Given the description of an element on the screen output the (x, y) to click on. 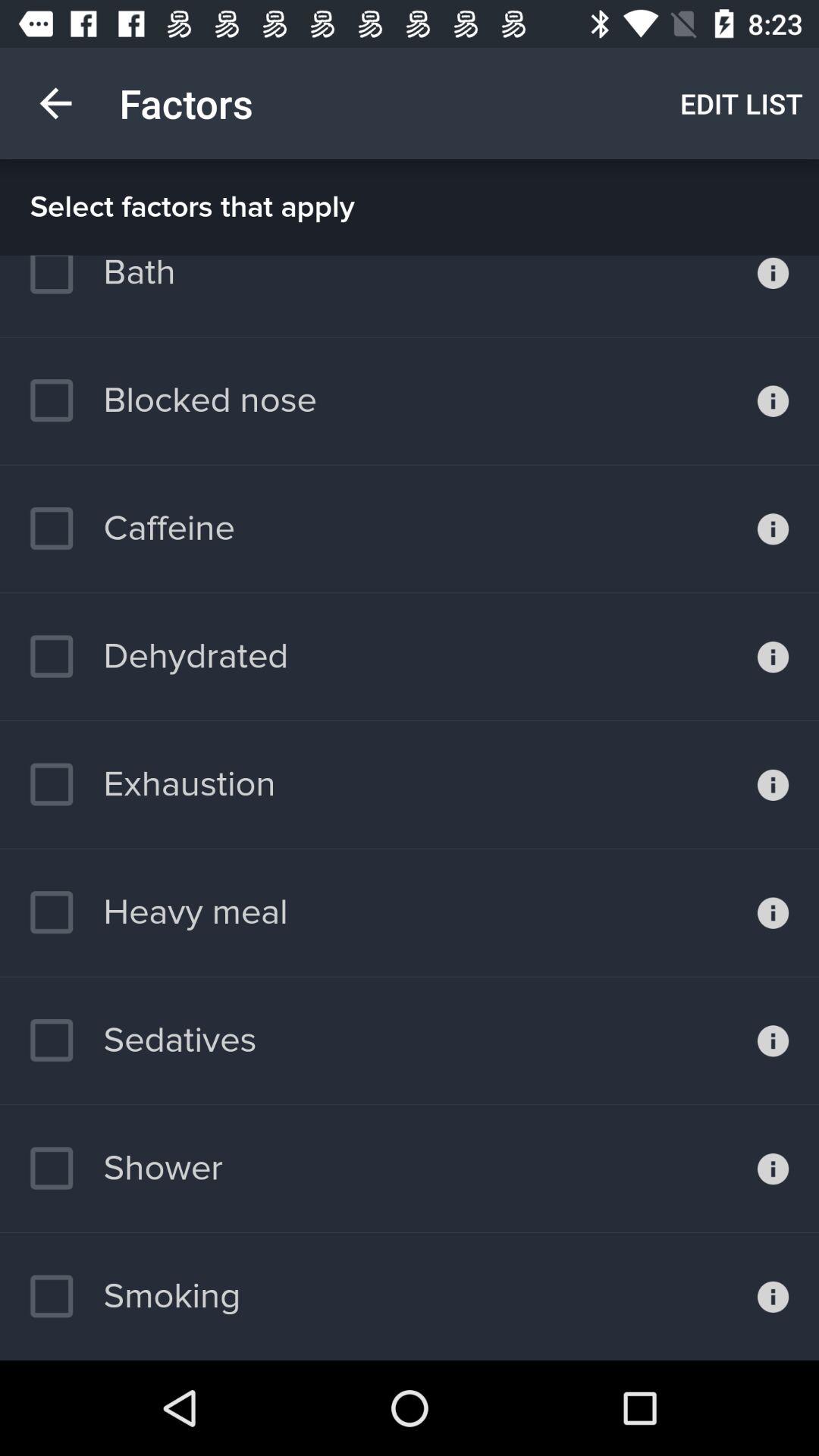
launch the shower (126, 1168)
